Given the description of an element on the screen output the (x, y) to click on. 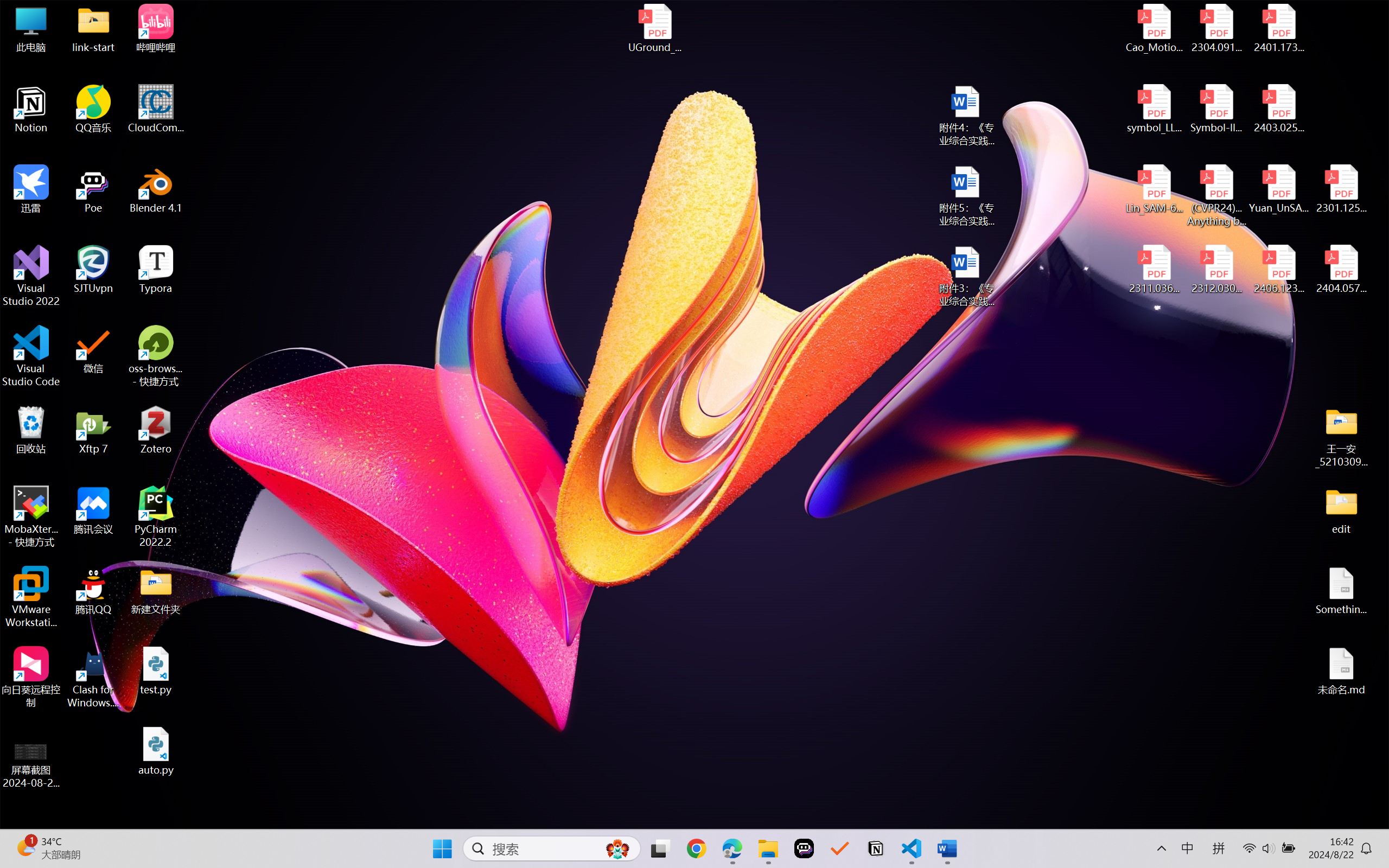
Blender 4.1 (156, 189)
Symbol-llm-v2.pdf (1216, 109)
Xftp 7 (93, 430)
2406.12373v2.pdf (1278, 269)
SJTUvpn (93, 269)
2304.09121v3.pdf (1216, 28)
